Given the description of an element on the screen output the (x, y) to click on. 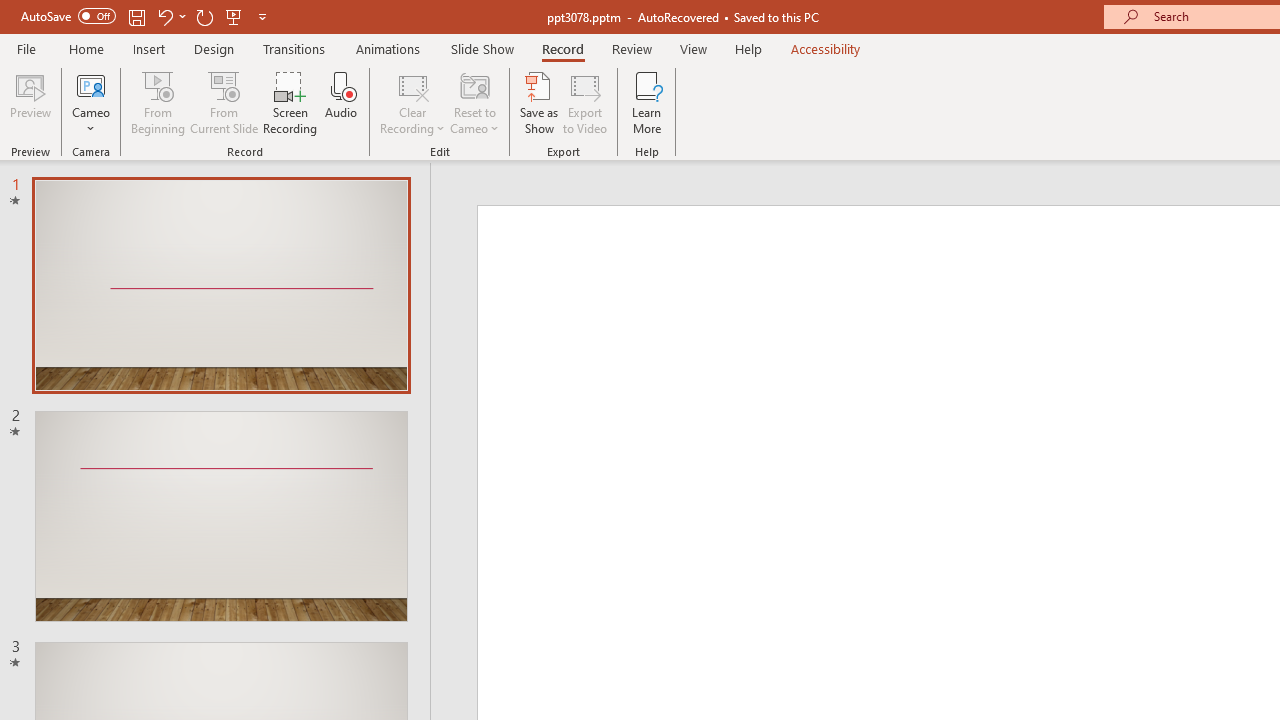
From Beginning... (158, 102)
